Given the description of an element on the screen output the (x, y) to click on. 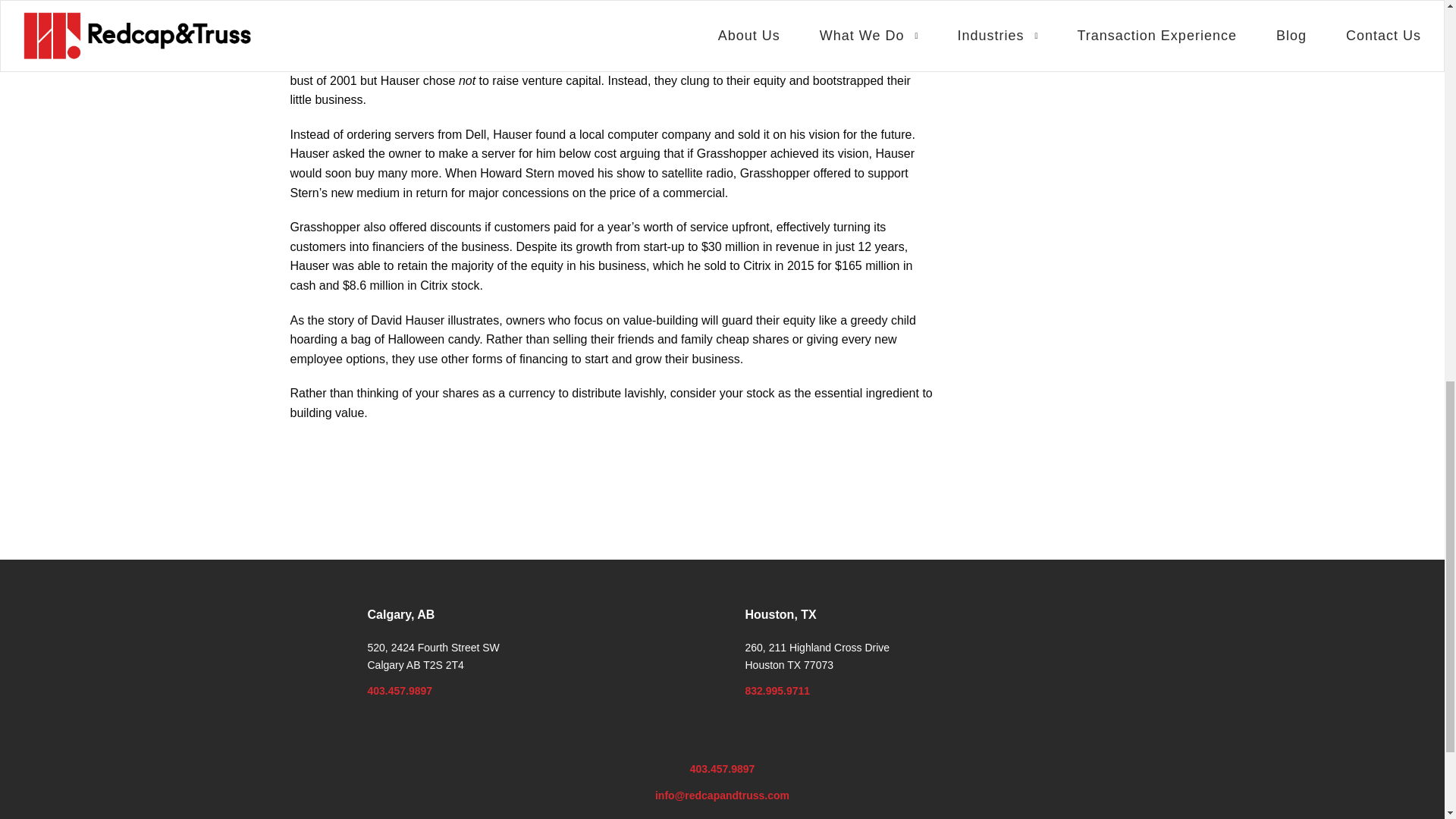
403.457.9897 (722, 768)
403.457.9897 (399, 690)
Houston, TX (779, 614)
832.995.9711 (776, 690)
Calgary, AB (399, 614)
